Given the description of an element on the screen output the (x, y) to click on. 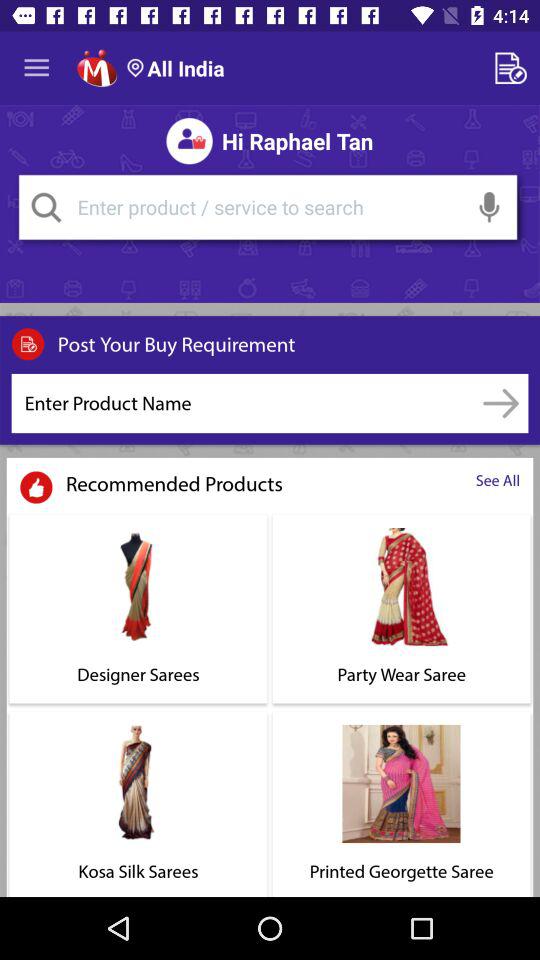
click to the voice search (489, 207)
